Given the description of an element on the screen output the (x, y) to click on. 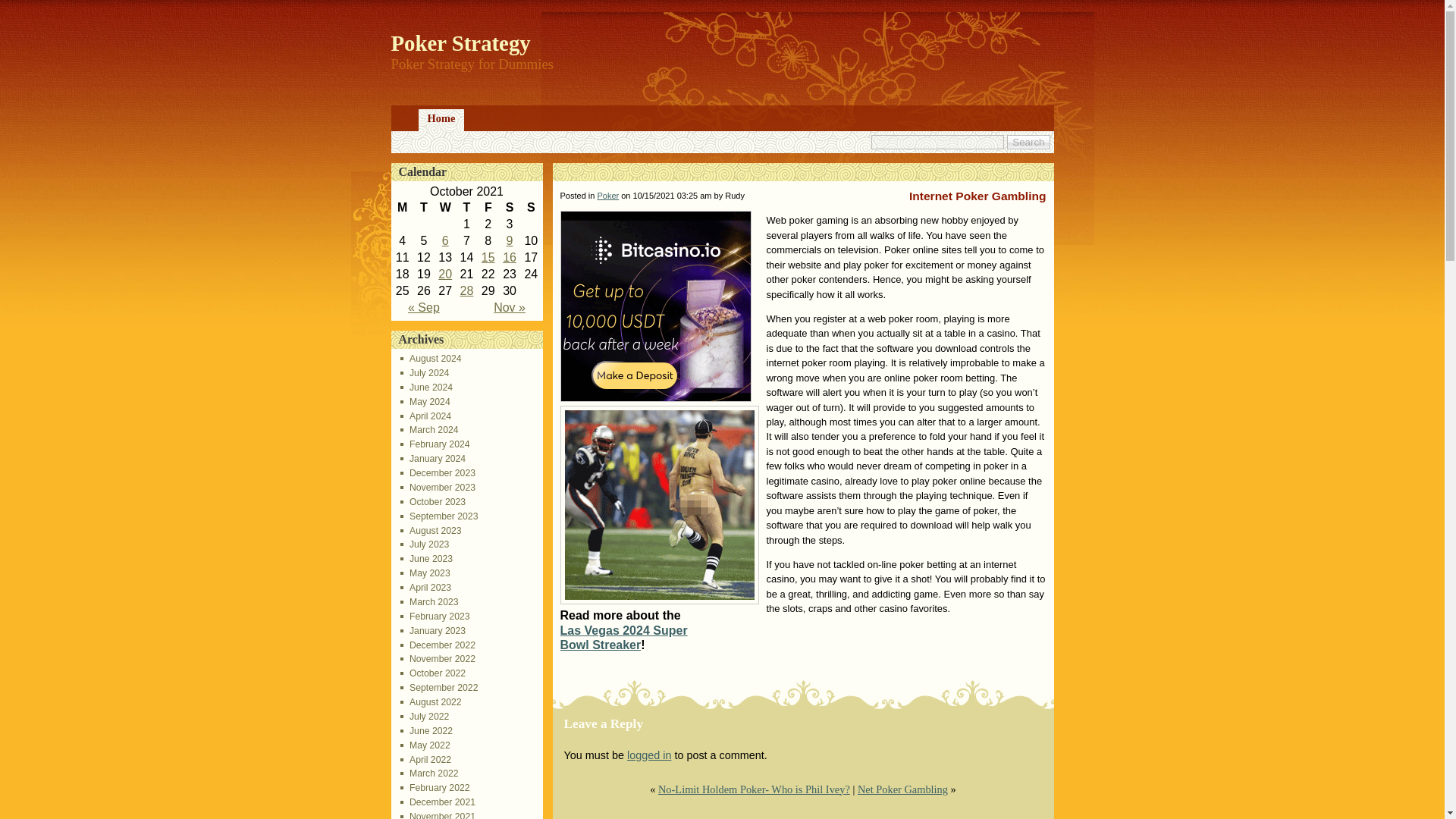
March 2023 (429, 602)
20 (444, 273)
August 2023 (430, 530)
Sunday (530, 207)
Monday (402, 207)
January 2023 (432, 630)
April 2024 (425, 416)
February 2023 (435, 615)
March 2024 (429, 429)
15 (488, 256)
